Given the description of an element on the screen output the (x, y) to click on. 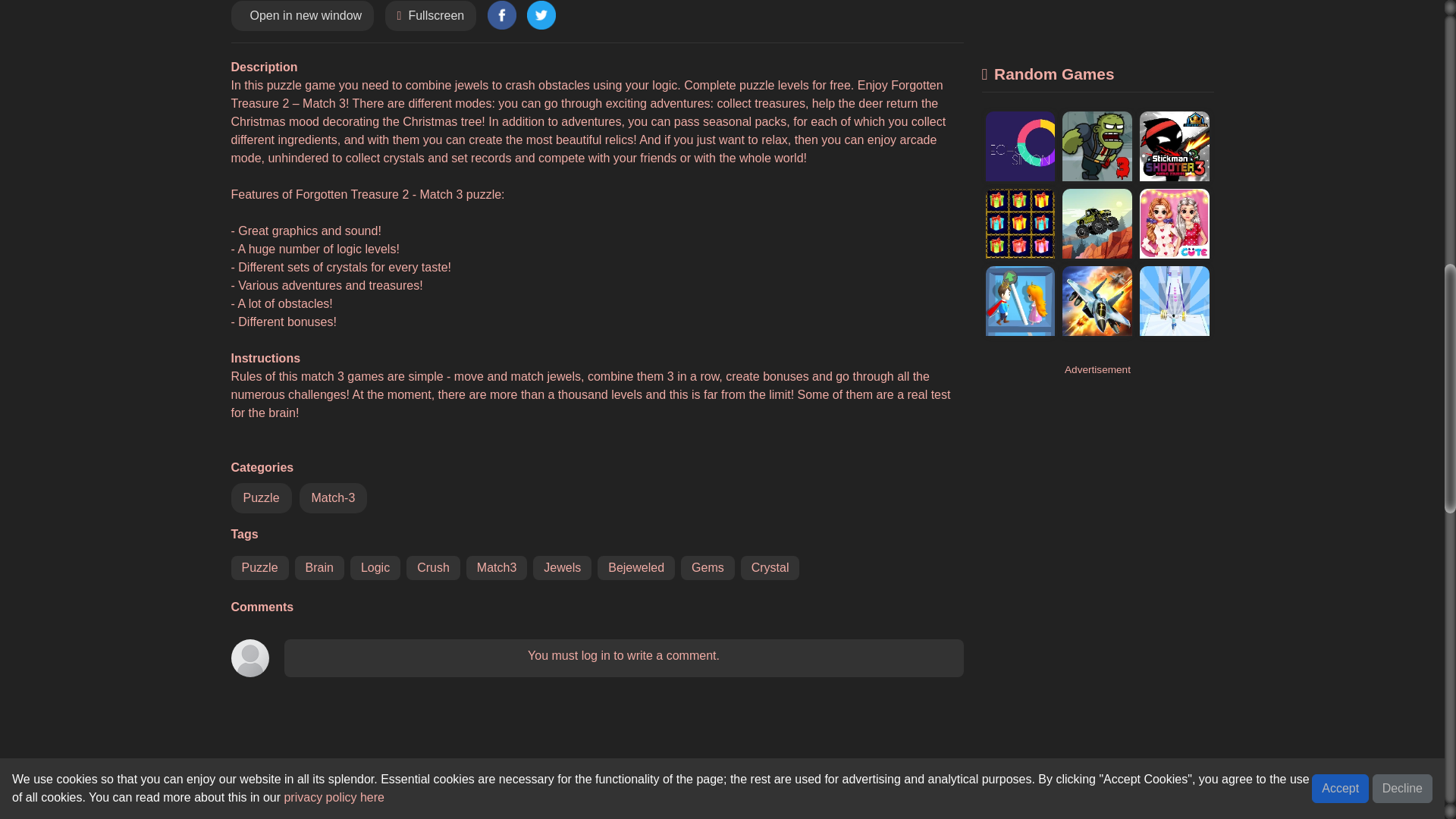
Advertisement (1097, 22)
